Given the description of an element on the screen output the (x, y) to click on. 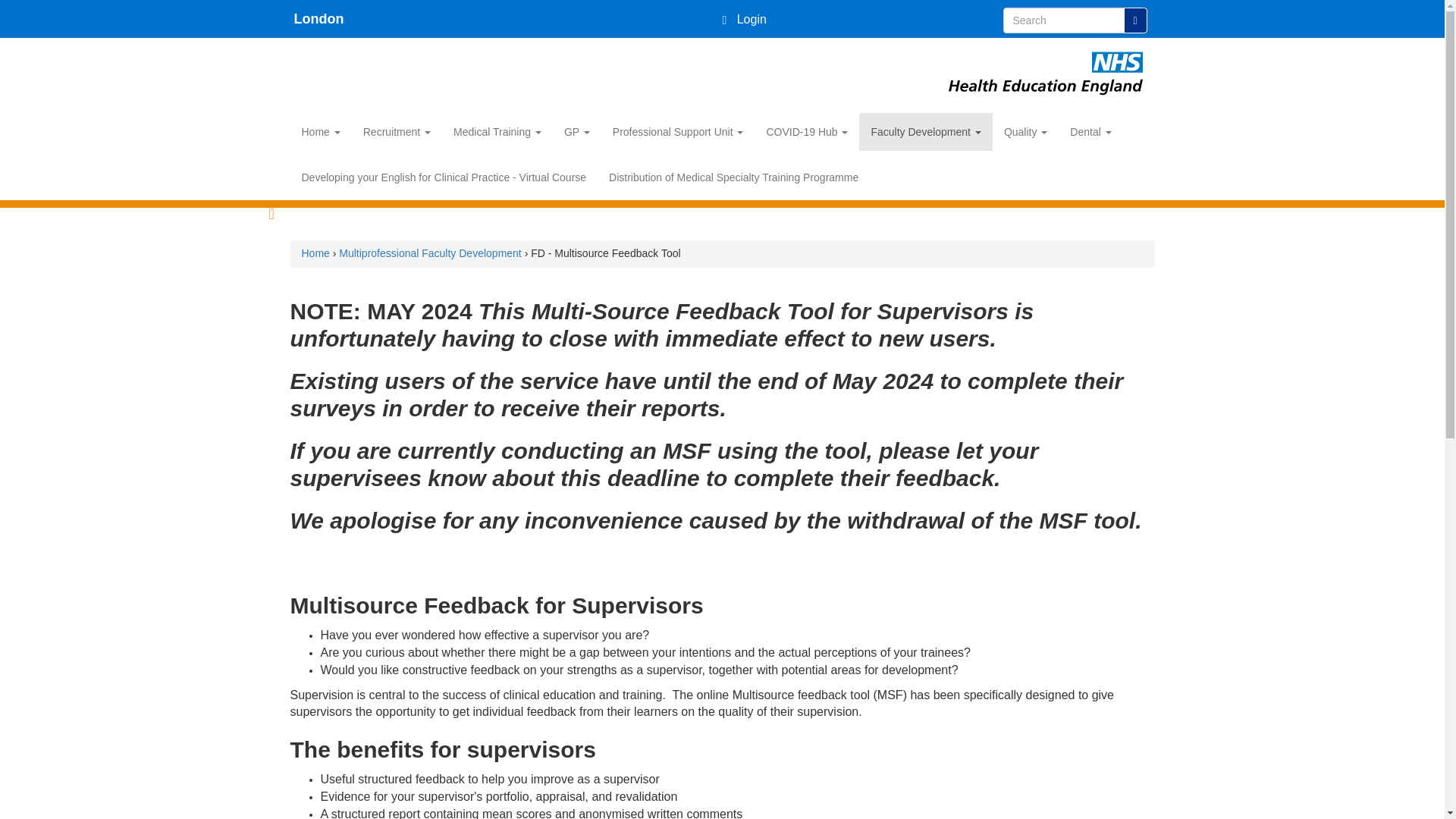
  Login (743, 18)
Home (319, 131)
Recruitment (397, 131)
Medical Training (497, 131)
London (316, 18)
Recruitment (397, 131)
Home (1044, 54)
Home (316, 18)
Enter the terms you wish to search for. (1063, 20)
Medical Training (497, 131)
